Given the description of an element on the screen output the (x, y) to click on. 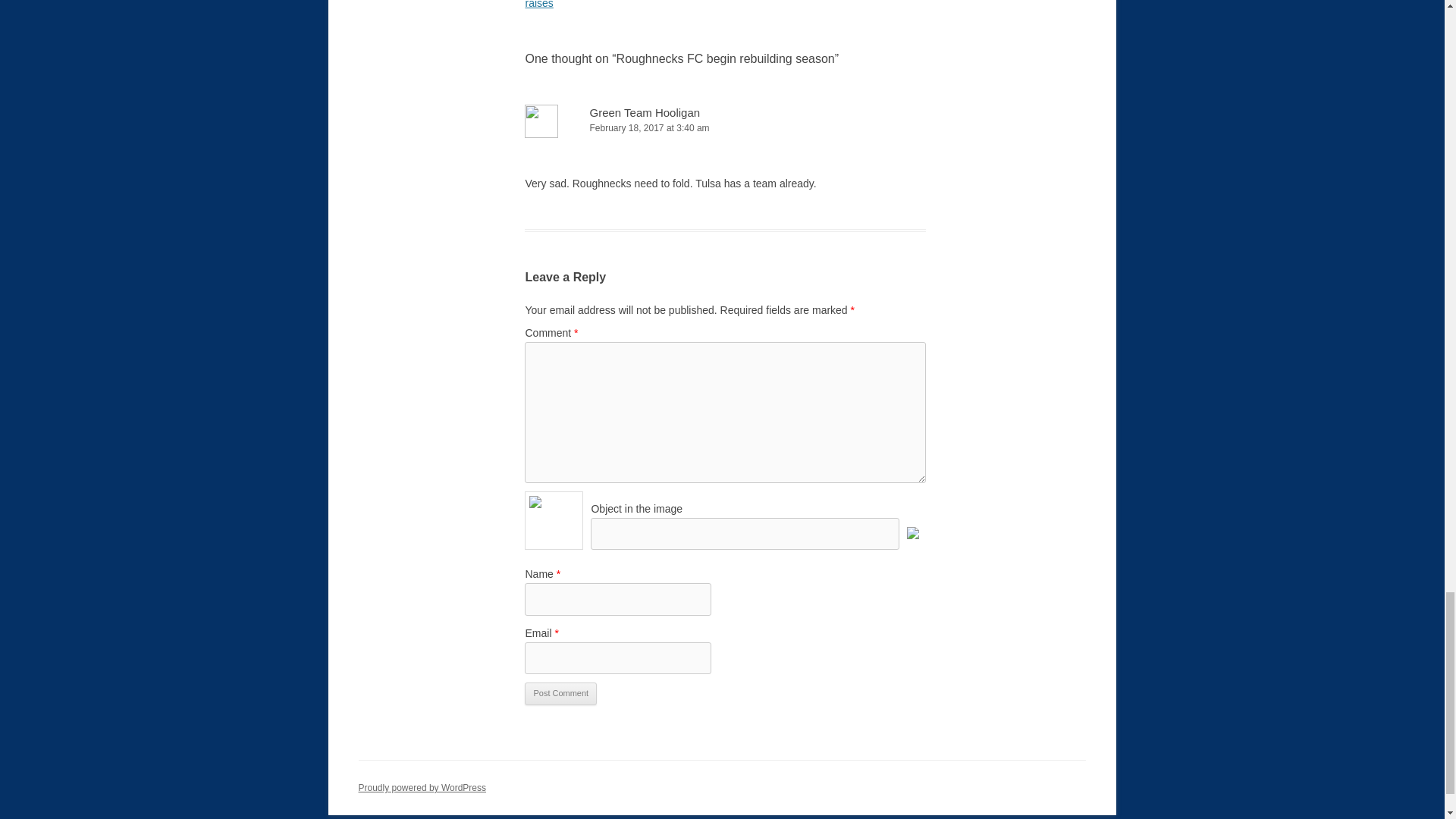
Semantic Personal Publishing Platform (422, 787)
Post Comment (560, 693)
Post Comment (560, 693)
February 18, 2017 at 3:40 am (725, 128)
Proudly powered by WordPress (422, 787)
